Given the description of an element on the screen output the (x, y) to click on. 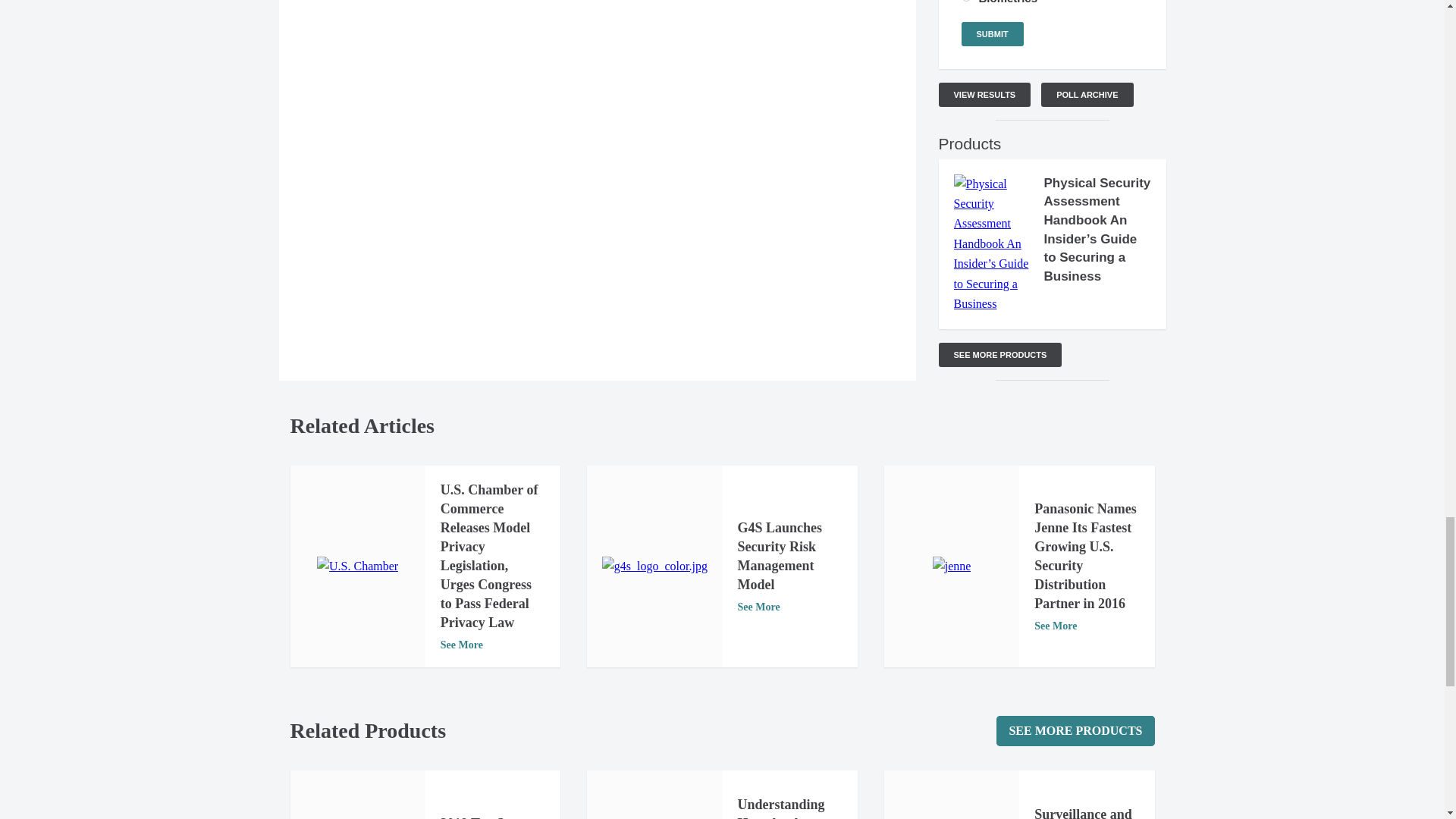
Jenne.jpg (952, 566)
chamber.jpg (357, 566)
Submit (991, 33)
